Given the description of an element on the screen output the (x, y) to click on. 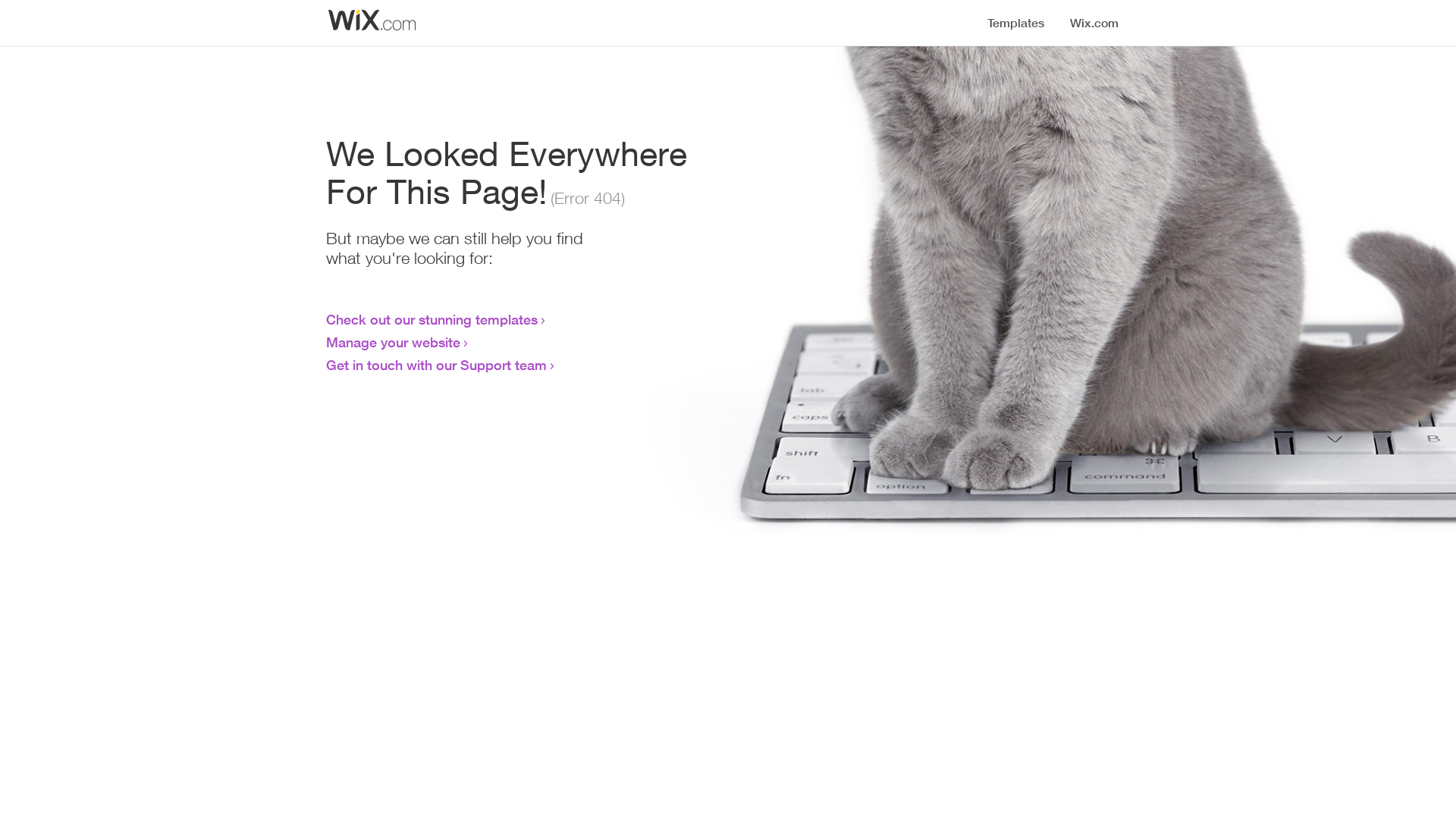
Get in touch with our Support team Element type: text (436, 364)
Manage your website Element type: text (393, 341)
Check out our stunning templates Element type: text (431, 318)
